Given the description of an element on the screen output the (x, y) to click on. 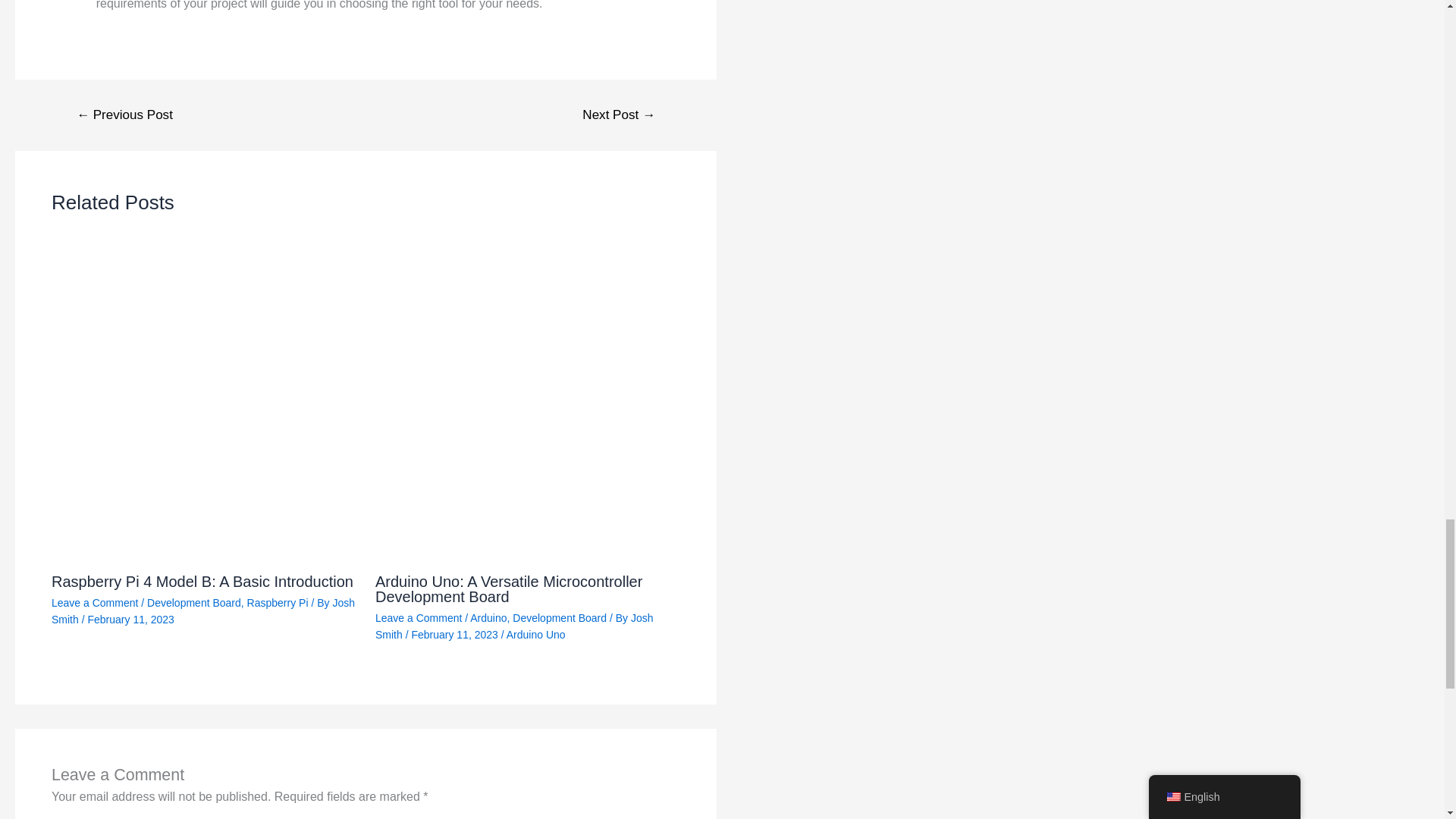
View all posts by Josh Smith (202, 611)
View all posts by Josh Smith (514, 625)
